Given the description of an element on the screen output the (x, y) to click on. 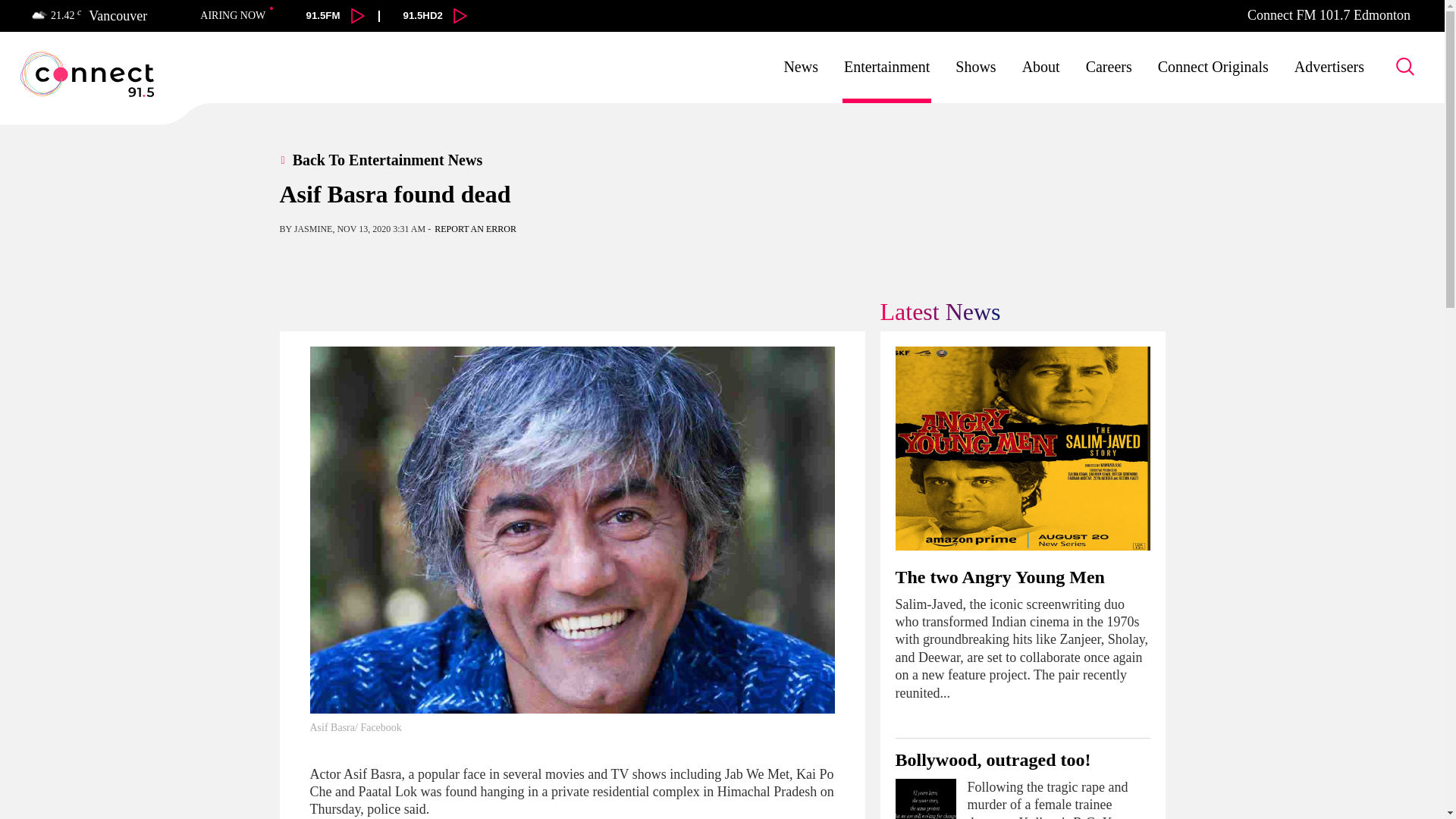
Play (459, 15)
Back To Entertainment News (381, 159)
Connect Originals (1212, 66)
Advertisers (1328, 66)
Play (357, 15)
Entertainment (887, 66)
REPORT AN ERROR (475, 228)
Connect FM 101.7 Edmonton (1328, 14)
